Given the description of an element on the screen output the (x, y) to click on. 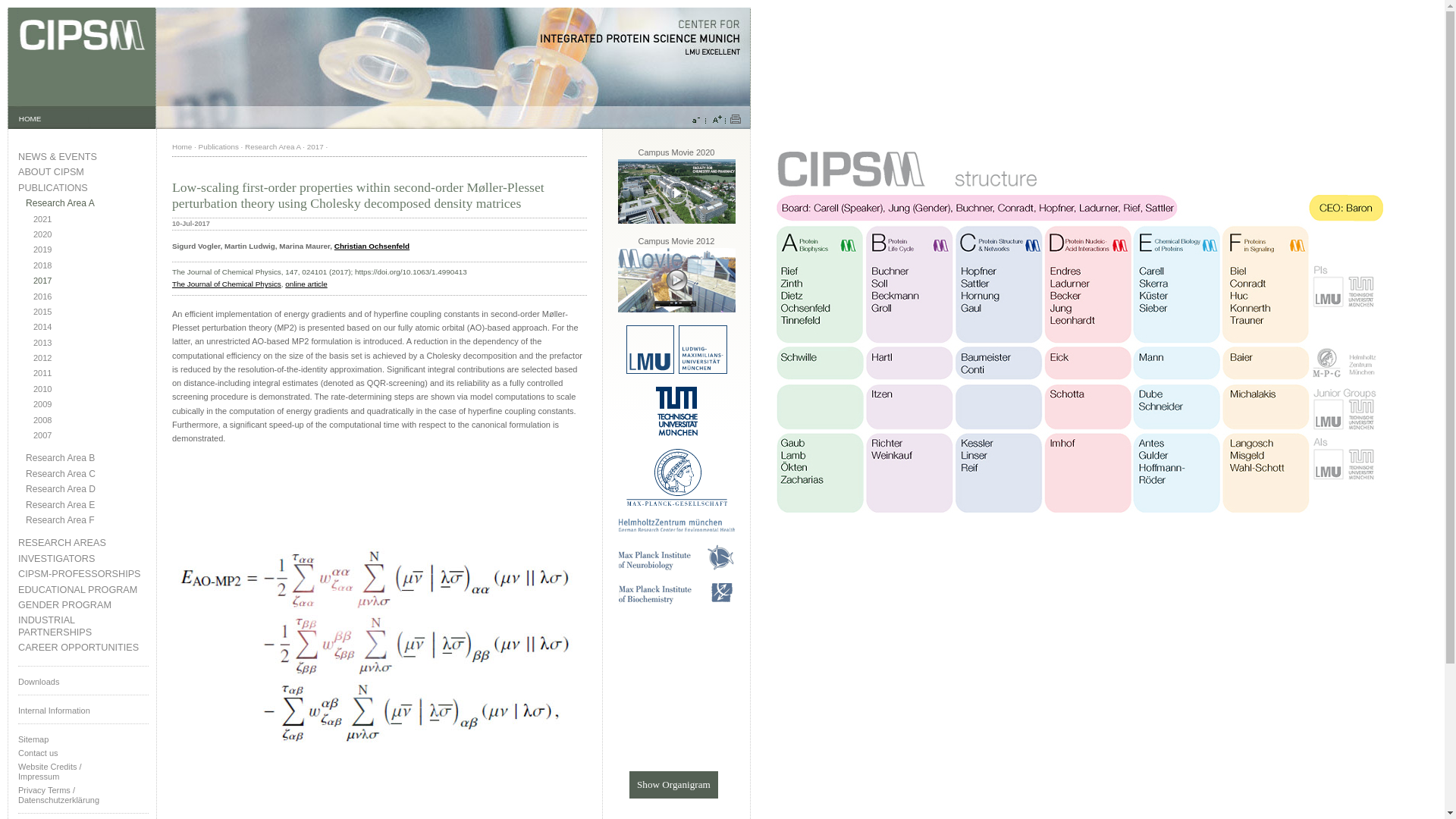
INVESTIGATORS (82, 559)
2014 (90, 326)
Research Area F (87, 520)
MPI of Biochemistry (676, 601)
2012 (90, 357)
RESEARCH AREAS (82, 542)
2019 (90, 249)
2013 (90, 342)
2020 (90, 234)
CIPSM-PROFESSORSHIPS (82, 573)
CAREER OPPORTUNITIES (82, 647)
Downloads (82, 681)
Research Area B (87, 458)
2015 (90, 311)
Research Area C (87, 473)
